Given the description of an element on the screen output the (x, y) to click on. 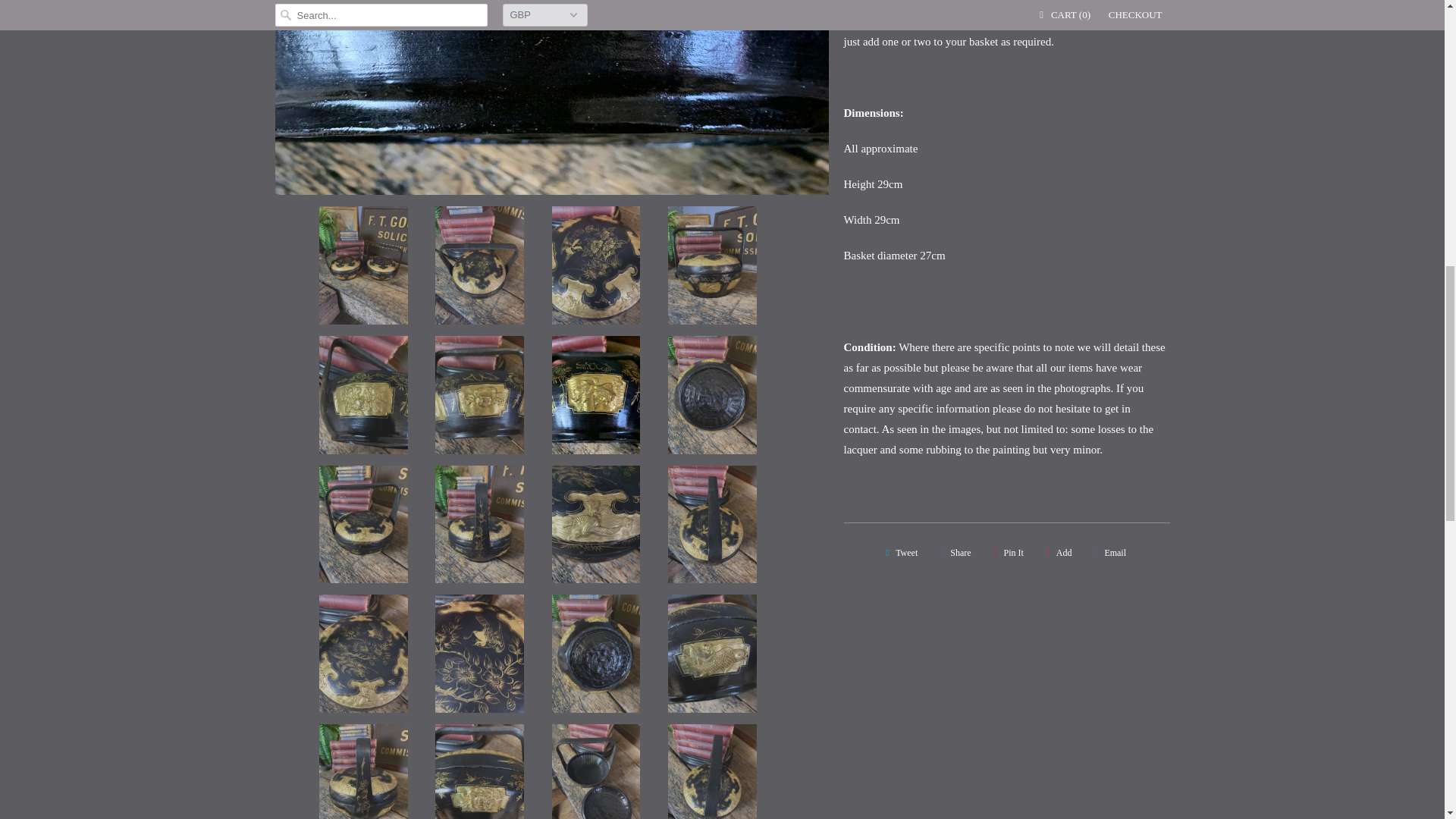
A Chinese black lacquer wedding basket (551, 97)
